Given the description of an element on the screen output the (x, y) to click on. 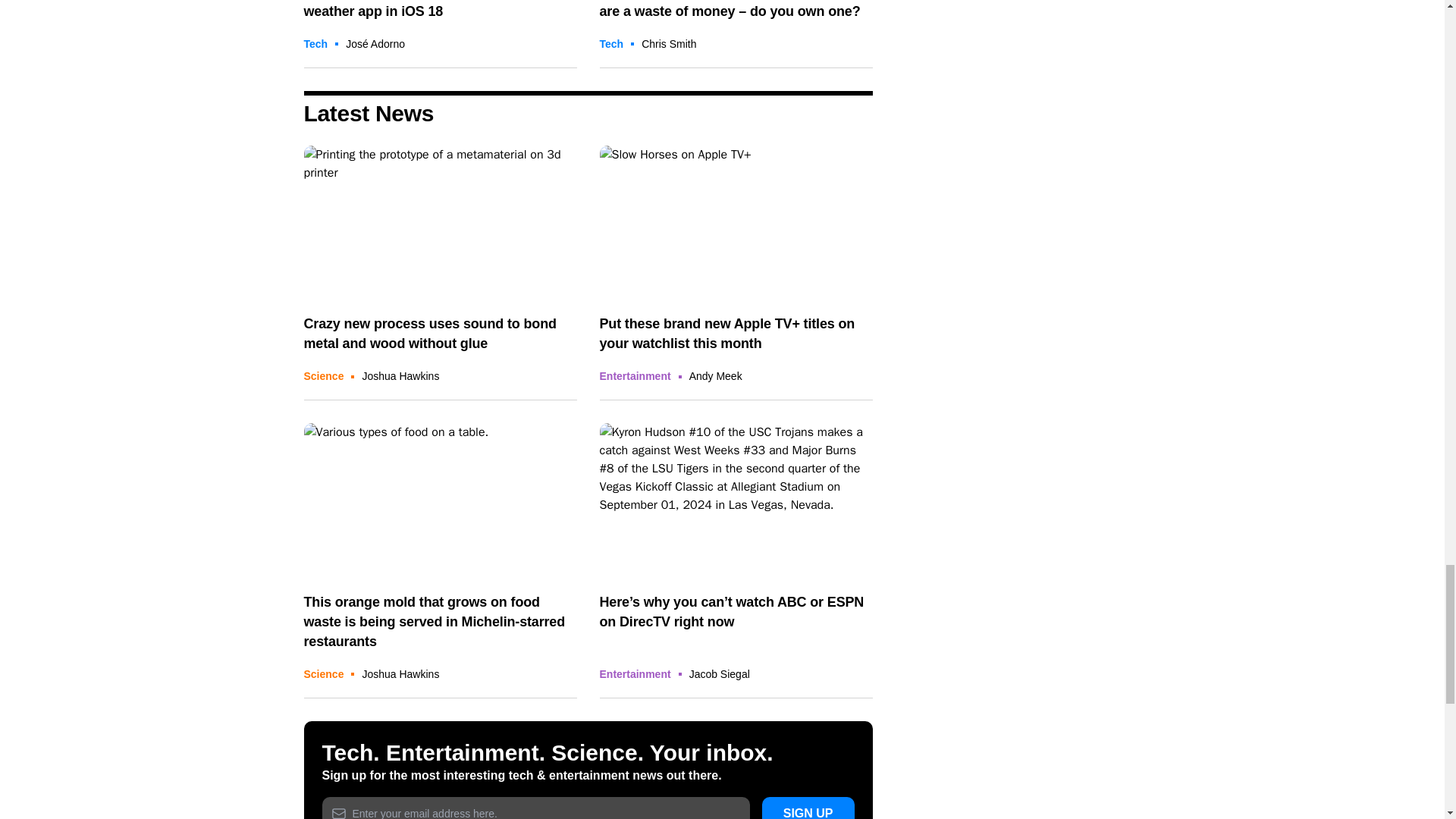
Posts by Chris Smith (668, 43)
Posts by Joshua Hawkins (400, 674)
Posts by Jacob Siegal (718, 674)
Posts by Andy Meek (715, 376)
3D-printed adhesive (439, 222)
DirecTV (735, 500)
Posts by Joshua Hawkins (400, 376)
orange mold (439, 500)
